Given the description of an element on the screen output the (x, y) to click on. 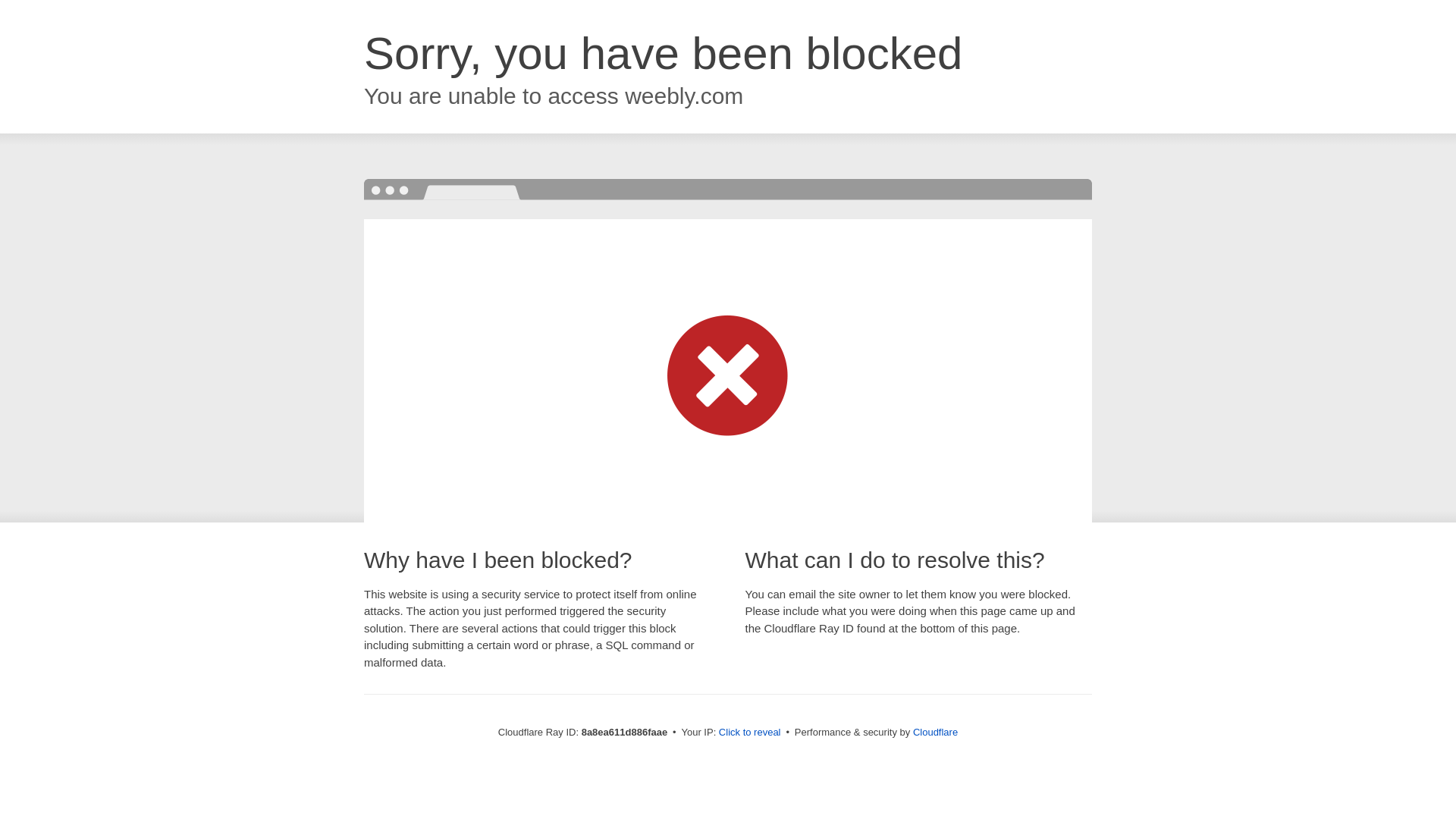
Click to reveal (749, 732)
Cloudflare (935, 731)
